Given the description of an element on the screen output the (x, y) to click on. 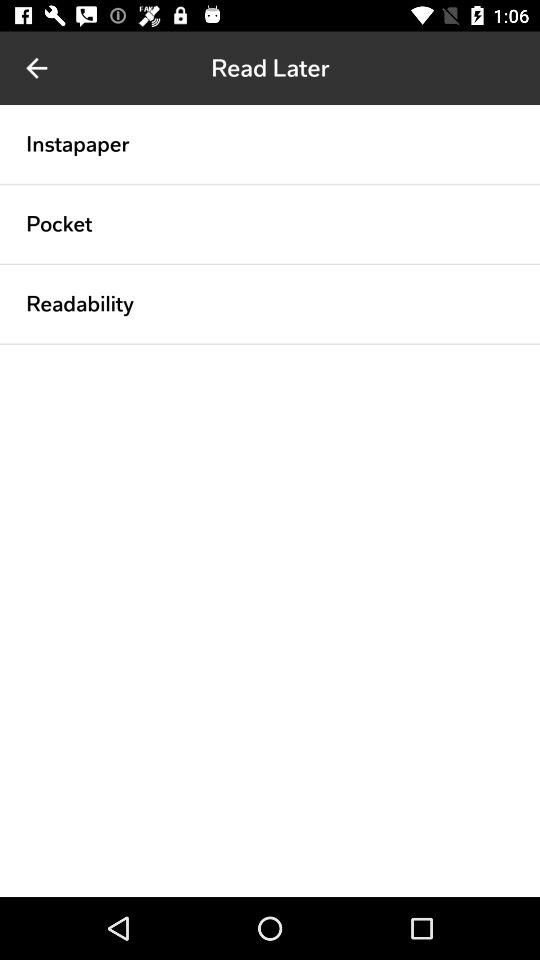
select the item to the left of read later (36, 68)
